Given the description of an element on the screen output the (x, y) to click on. 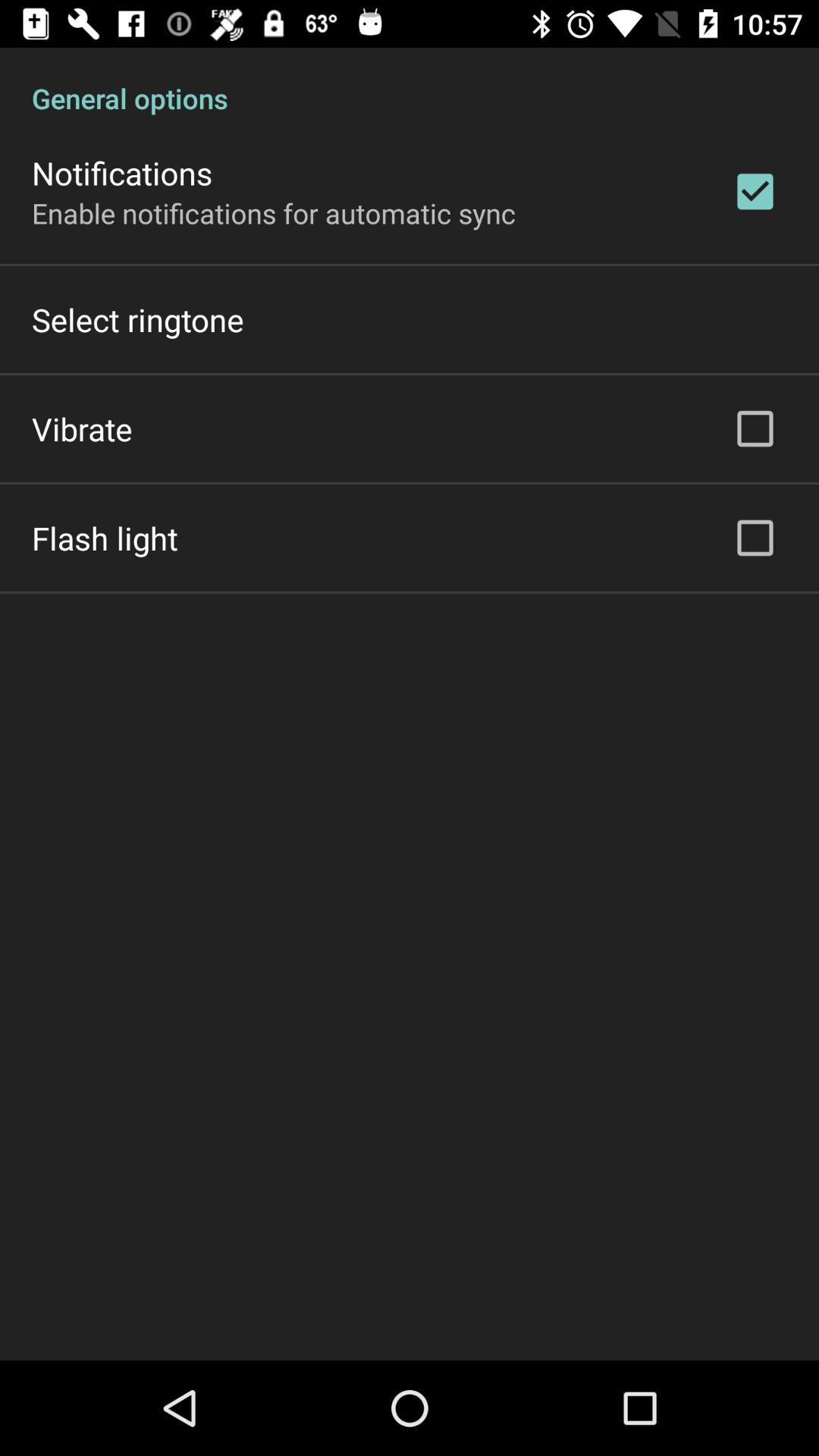
press the item above the select ringtone (273, 213)
